Given the description of an element on the screen output the (x, y) to click on. 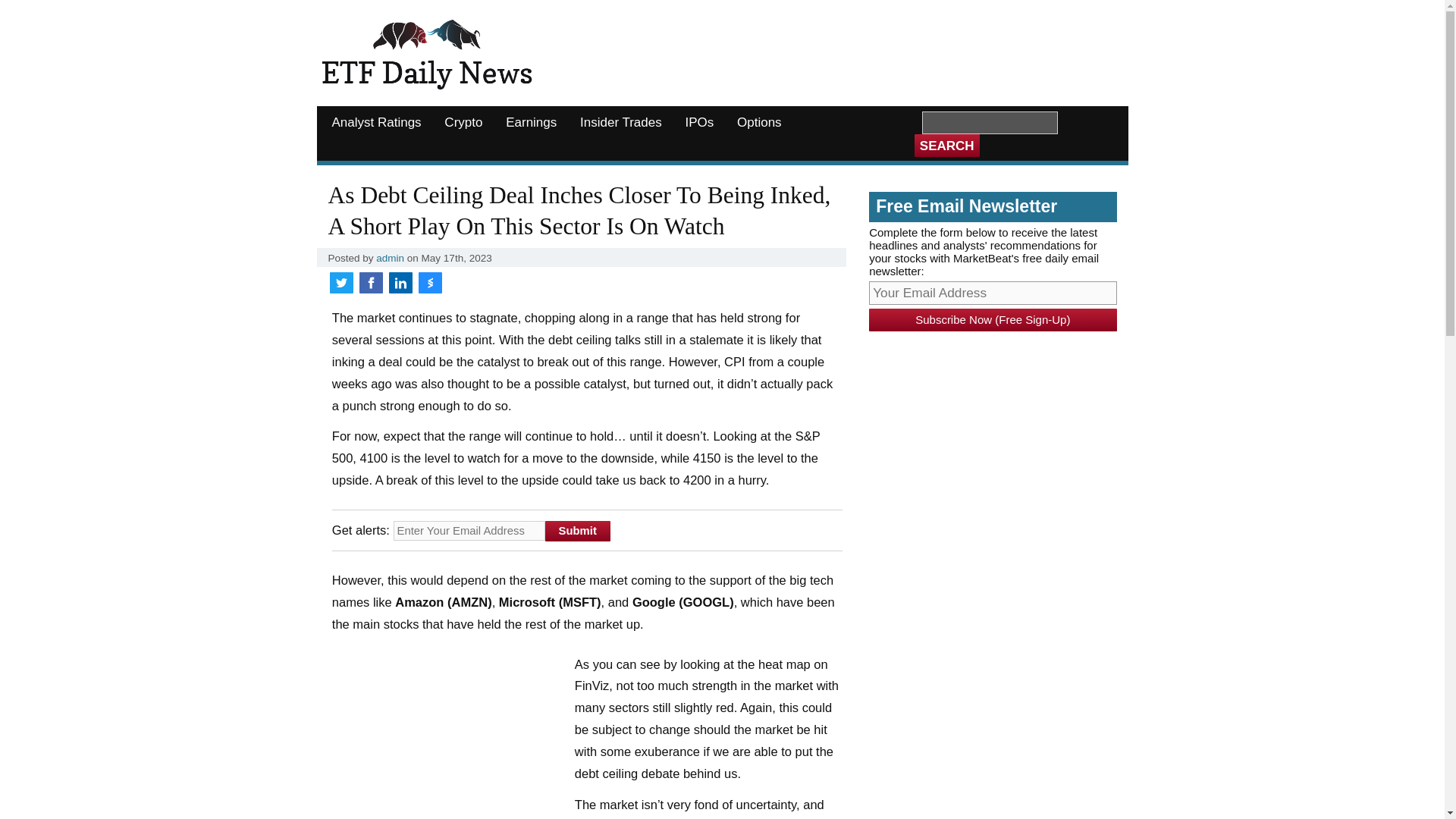
3rd party ad content (832, 49)
Insider Trades (620, 122)
Share on Facebook (371, 282)
Posts by admin (389, 257)
Share on LinkedIn (400, 282)
Crypto (462, 122)
Submit (577, 530)
Submit (577, 530)
SEARCH (946, 146)
SEARCH (946, 146)
Options (759, 122)
admin (389, 257)
SEARCH (946, 146)
IPOs (699, 122)
